Given the description of an element on the screen output the (x, y) to click on. 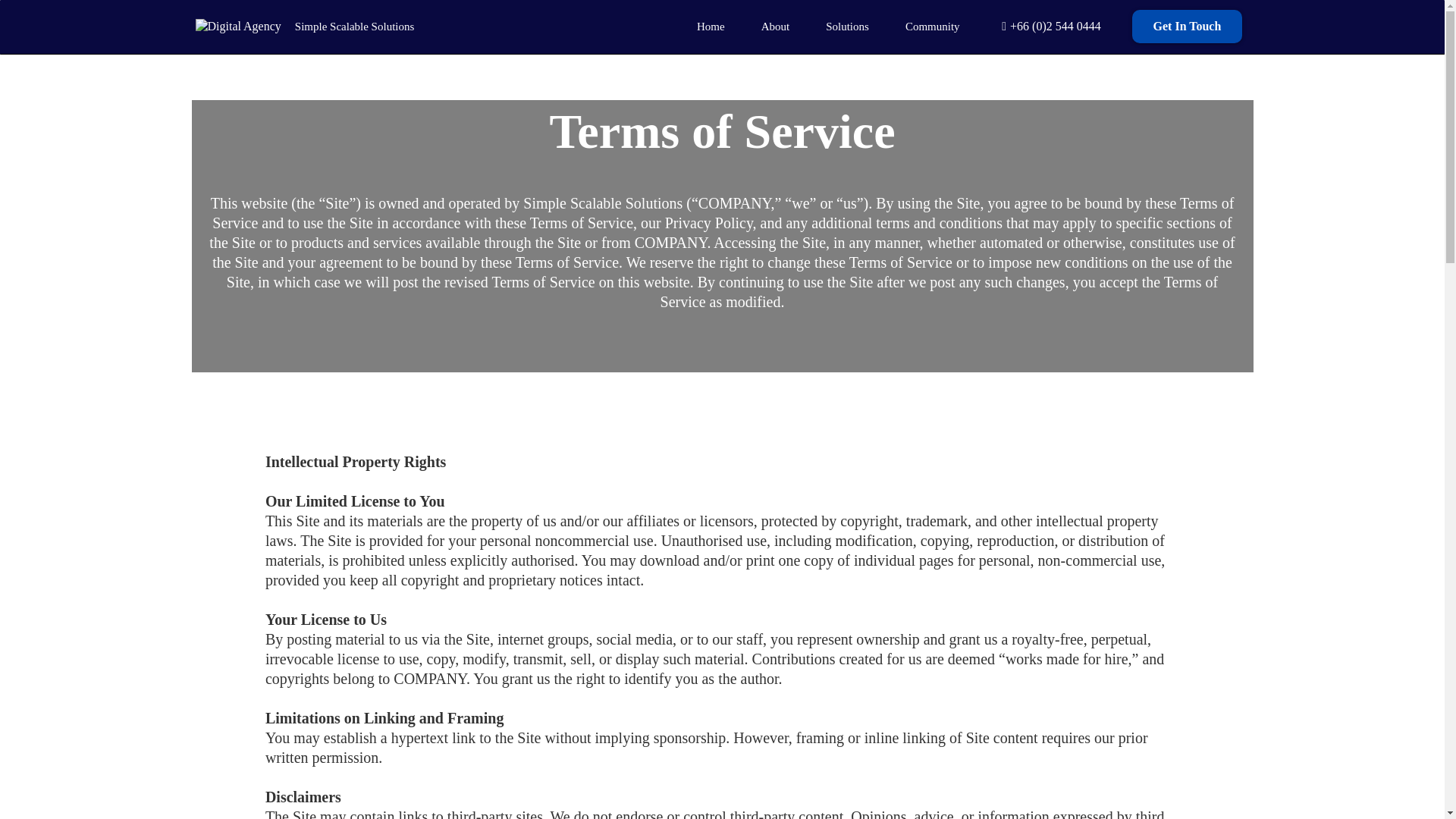
Solutions (847, 26)
Community (932, 26)
Get In Touch (1187, 26)
Home (710, 26)
About (775, 26)
